Given the description of an element on the screen output the (x, y) to click on. 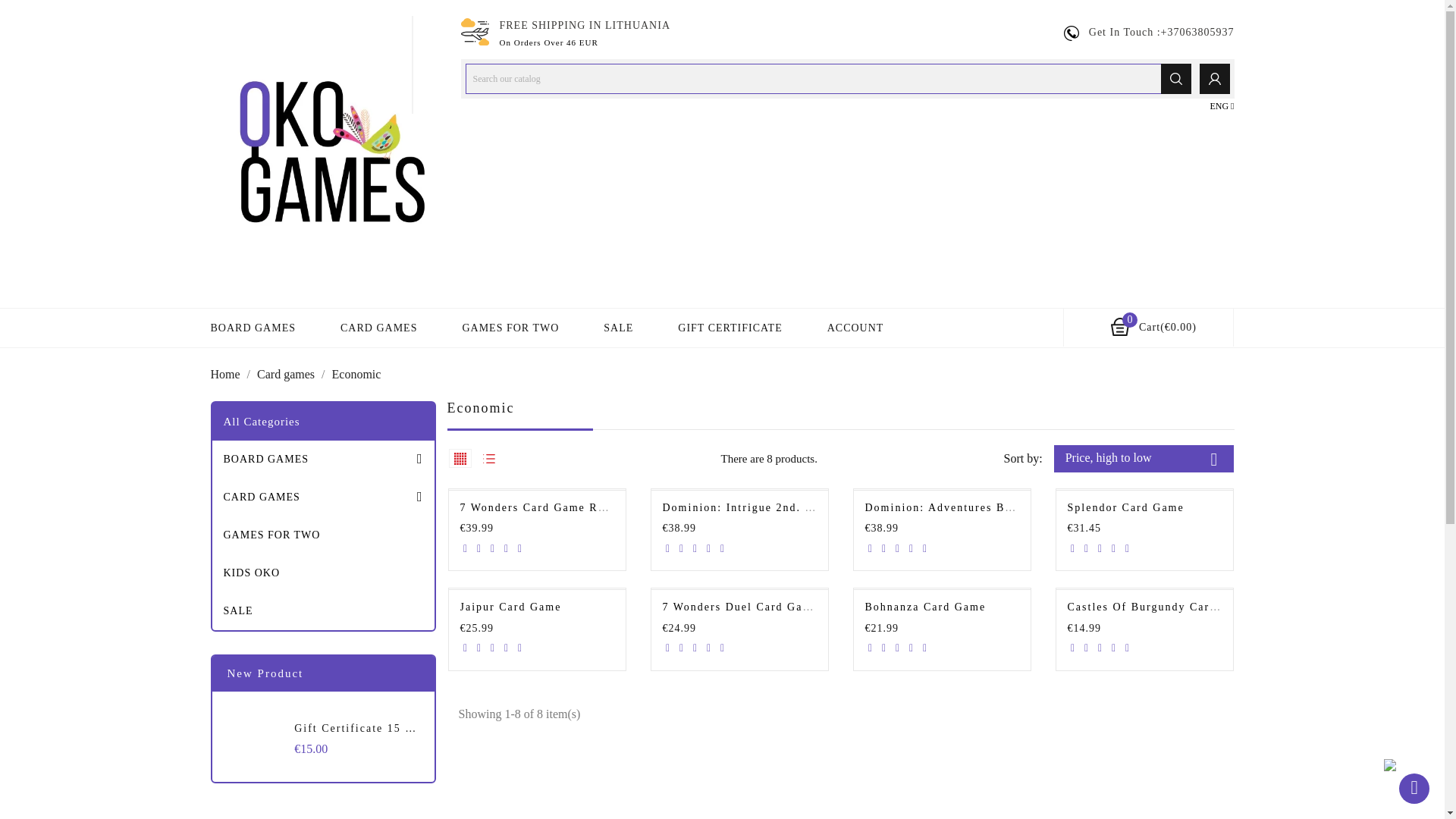
ACCOUNT (855, 327)
SALE (618, 327)
Home (227, 373)
CARD GAMES (378, 327)
GIFT CERTIFICATE (729, 327)
ENG (1221, 105)
GAMES FOR TWO (510, 327)
BOARD GAMES (322, 459)
Economic (356, 373)
BOARD GAMES (254, 327)
Card games (287, 373)
CARD GAMES (322, 497)
